Given the description of an element on the screen output the (x, y) to click on. 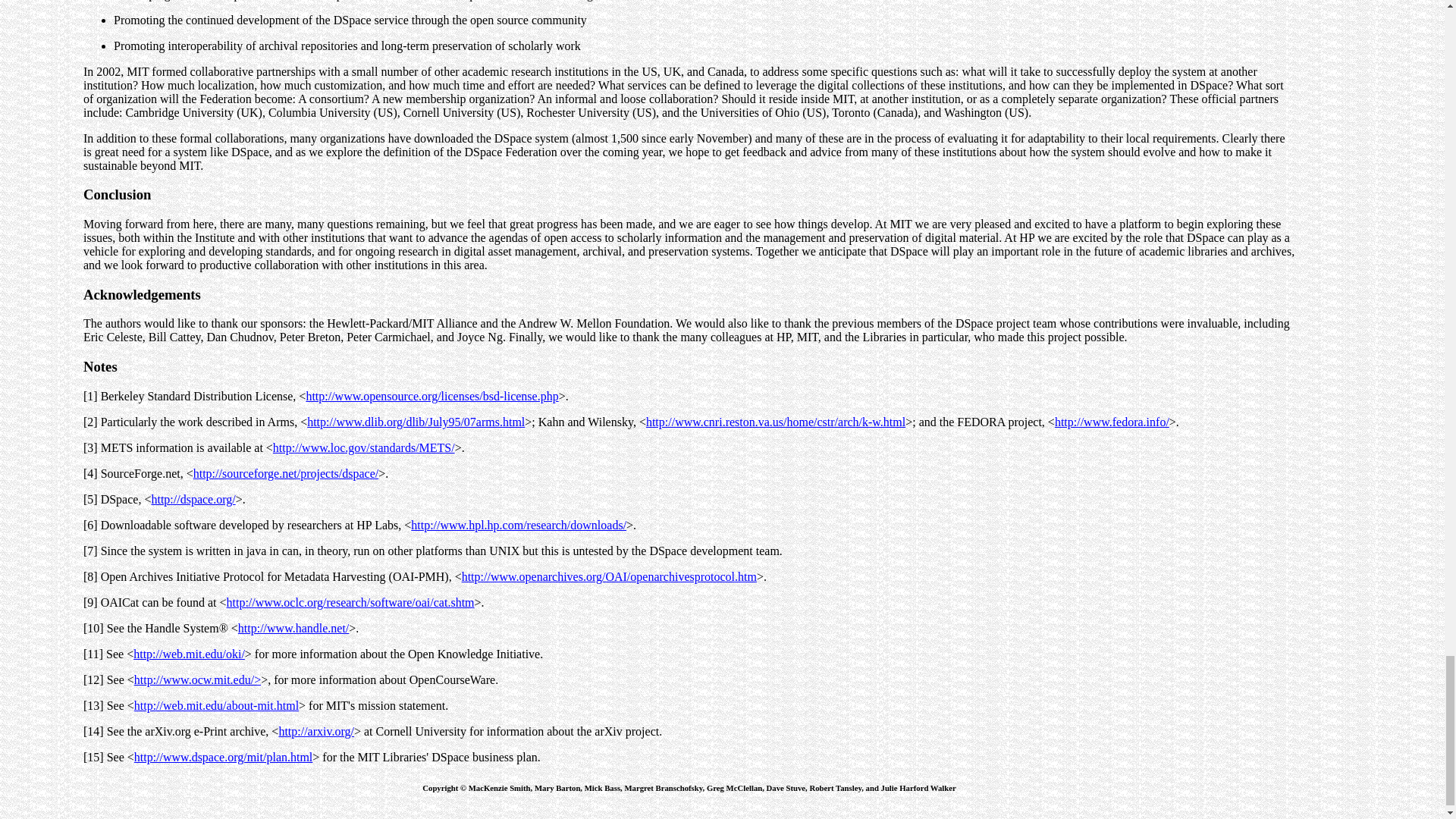
N (88, 366)
